Given the description of an element on the screen output the (x, y) to click on. 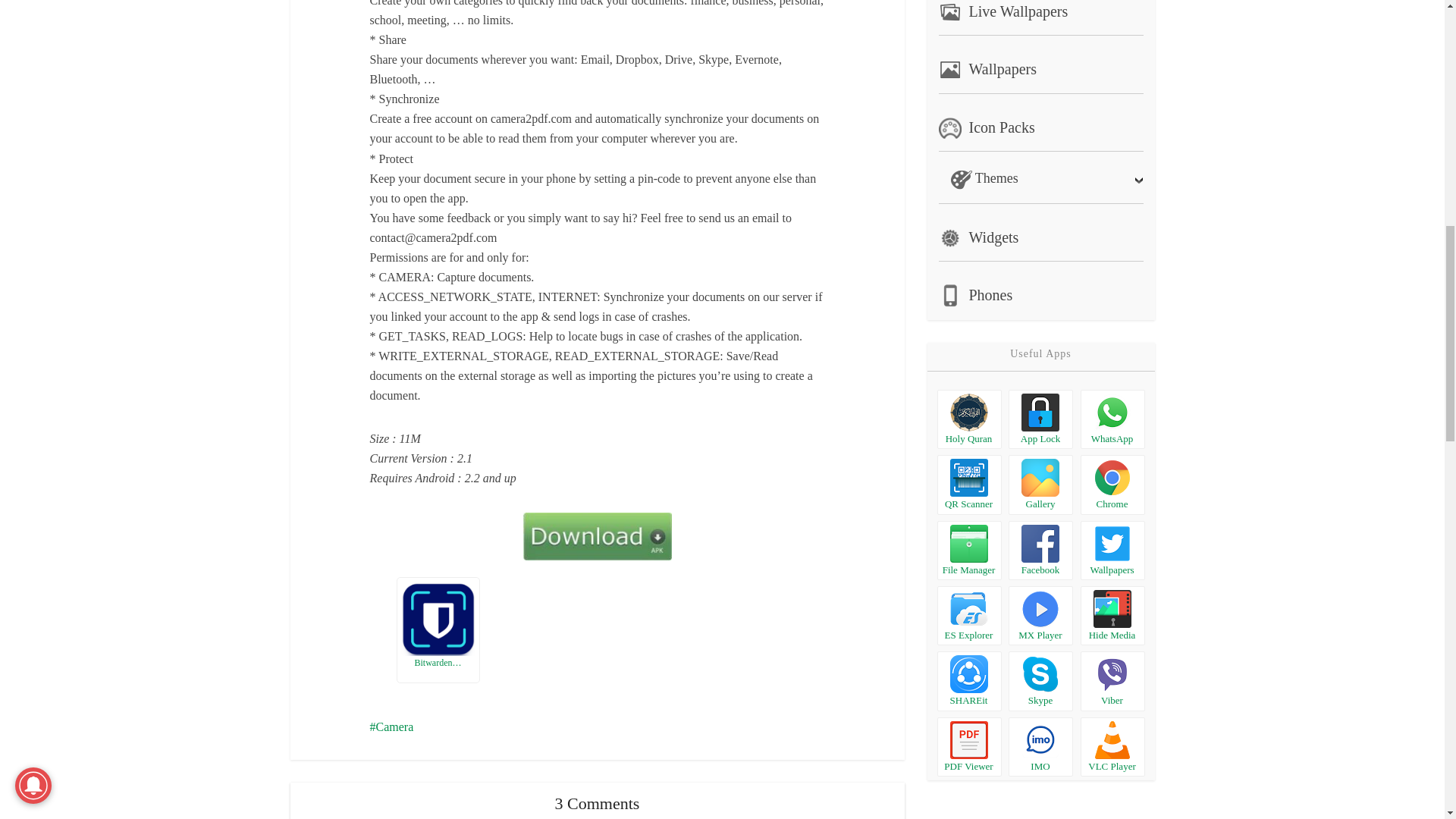
Bitwarden Authenticator app (437, 617)
Camera (391, 726)
